Given the description of an element on the screen output the (x, y) to click on. 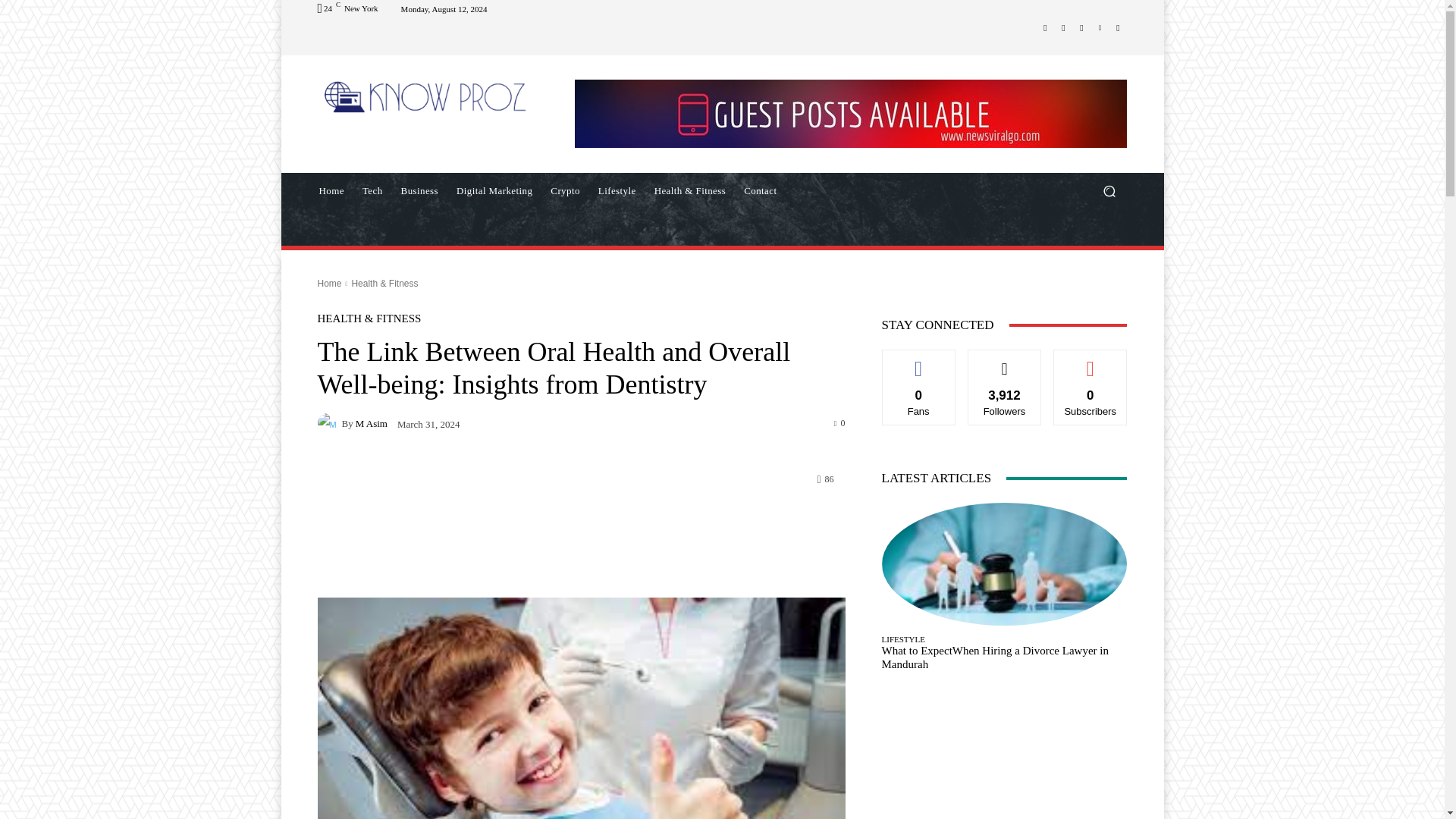
Lifestyle (617, 190)
Tech (372, 190)
Home (330, 190)
Vimeo (1099, 27)
Contact (760, 190)
Facebook (1044, 27)
Business (418, 190)
Digital Marketing (493, 190)
M Asim (328, 423)
Crypto (565, 190)
